Given the description of an element on the screen output the (x, y) to click on. 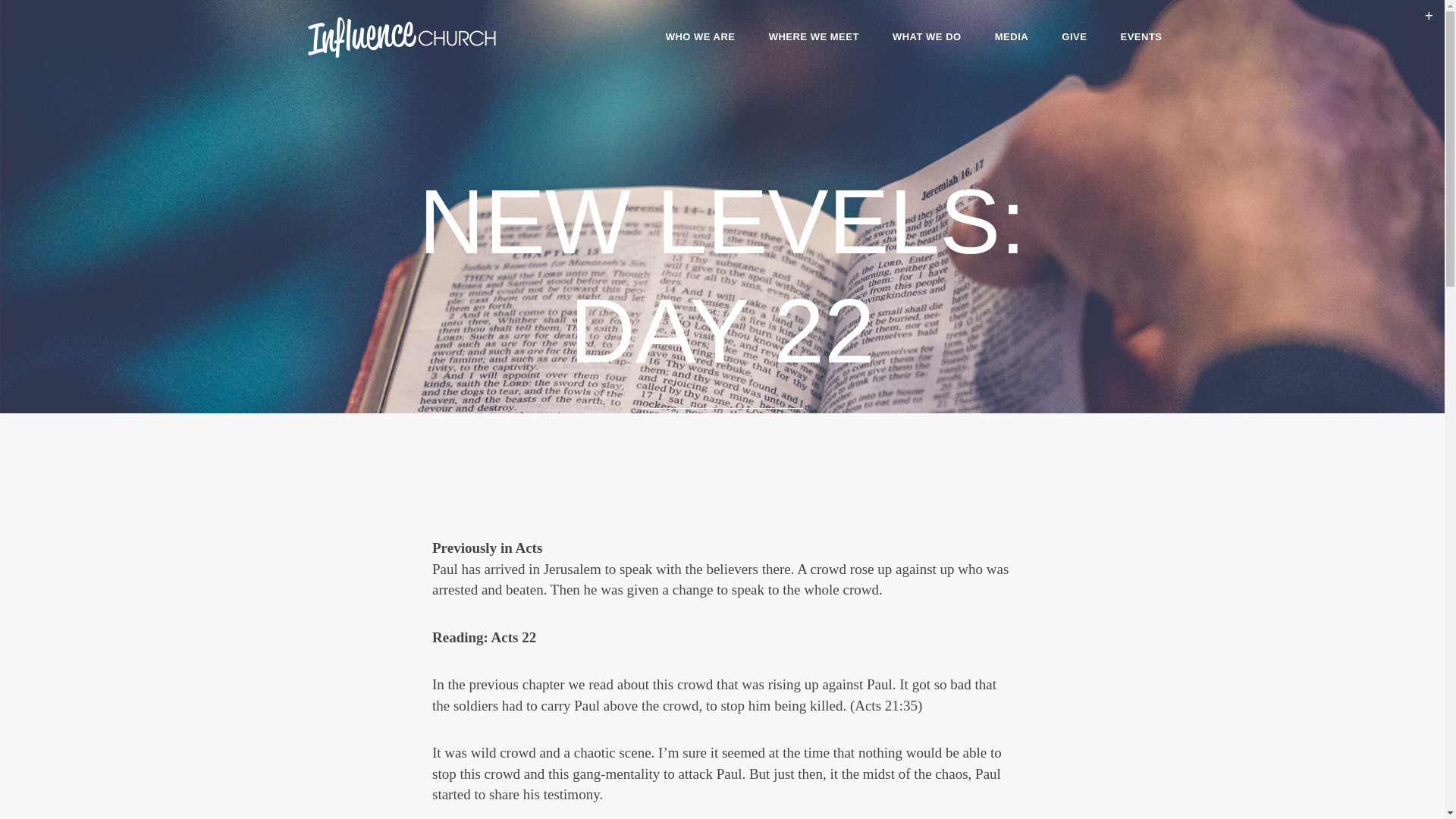
MEDIA (1011, 36)
Who We Are (700, 36)
Programmes and Events (926, 36)
EVENTS (1140, 36)
WHAT WE DO (926, 36)
Locations (814, 36)
GIVE (1074, 36)
WHERE WE MEET (814, 36)
WHO WE ARE (700, 36)
